Given the description of an element on the screen output the (x, y) to click on. 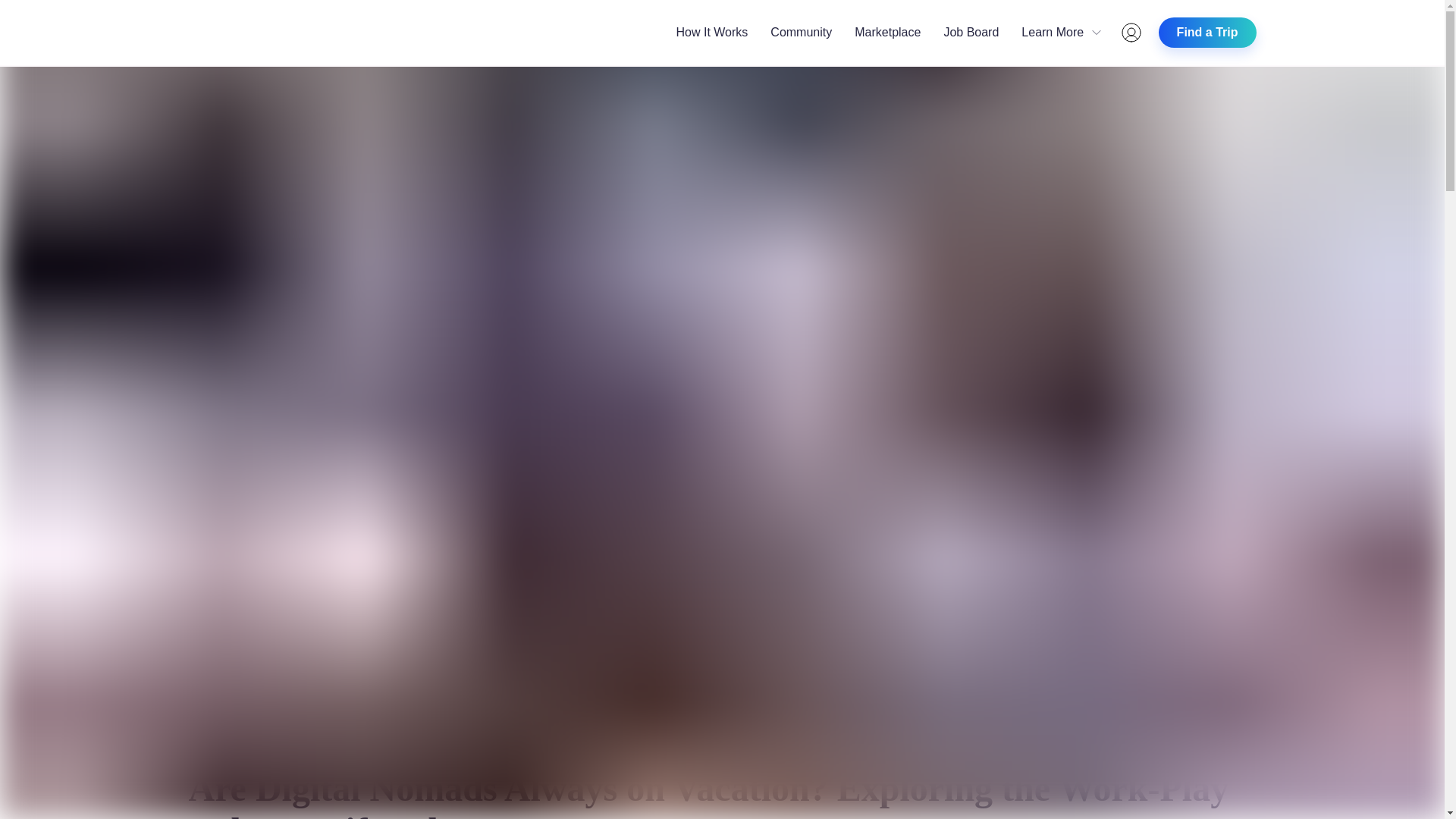
Community (800, 31)
Job Board (970, 31)
Marketplace (887, 31)
Find a Trip (1207, 32)
How It Works (710, 31)
